Given the description of an element on the screen output the (x, y) to click on. 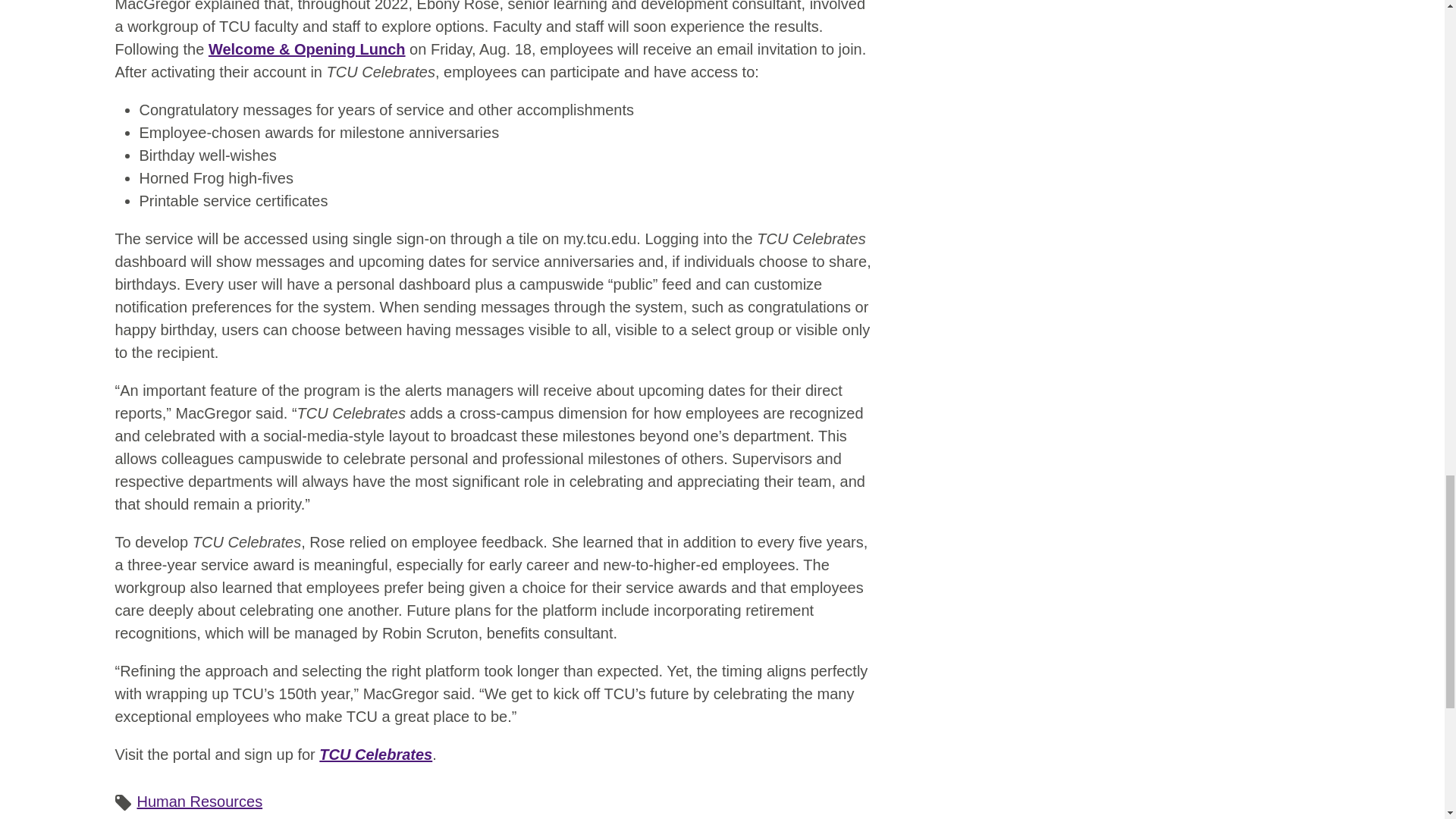
TCU Celebrates (375, 754)
Human Resources (199, 801)
